Given the description of an element on the screen output the (x, y) to click on. 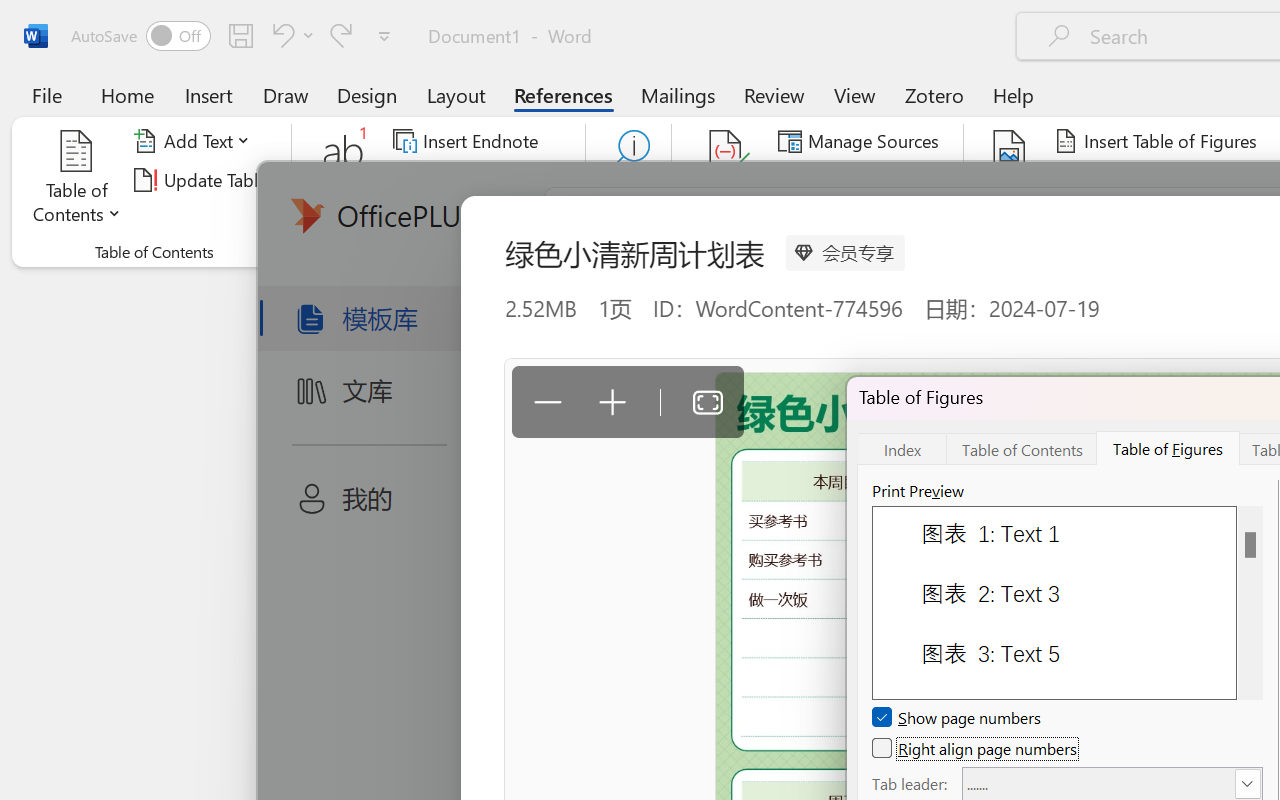
Footnote and Endnote Dialog... (573, 252)
Update Table (1124, 179)
Style (892, 179)
Print Preview (1249, 602)
Right align page numbers (976, 748)
Next Footnote (468, 179)
Search (628, 179)
Insert Endnote (468, 141)
Undo Apply Quick Style Set (290, 35)
